Given the description of an element on the screen output the (x, y) to click on. 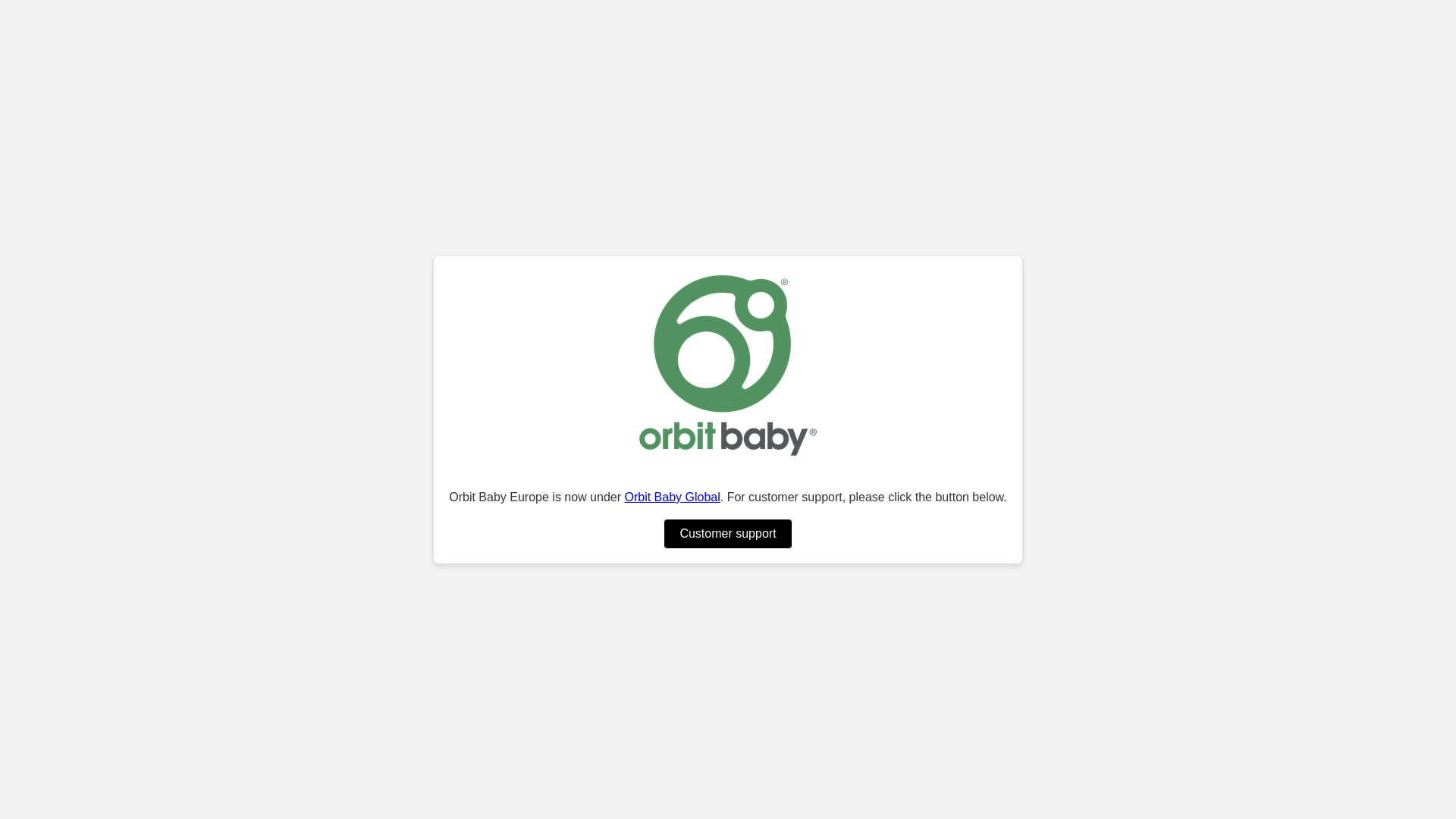
Orbit Baby Global (671, 496)
Customer support (726, 533)
